Given the description of an element on the screen output the (x, y) to click on. 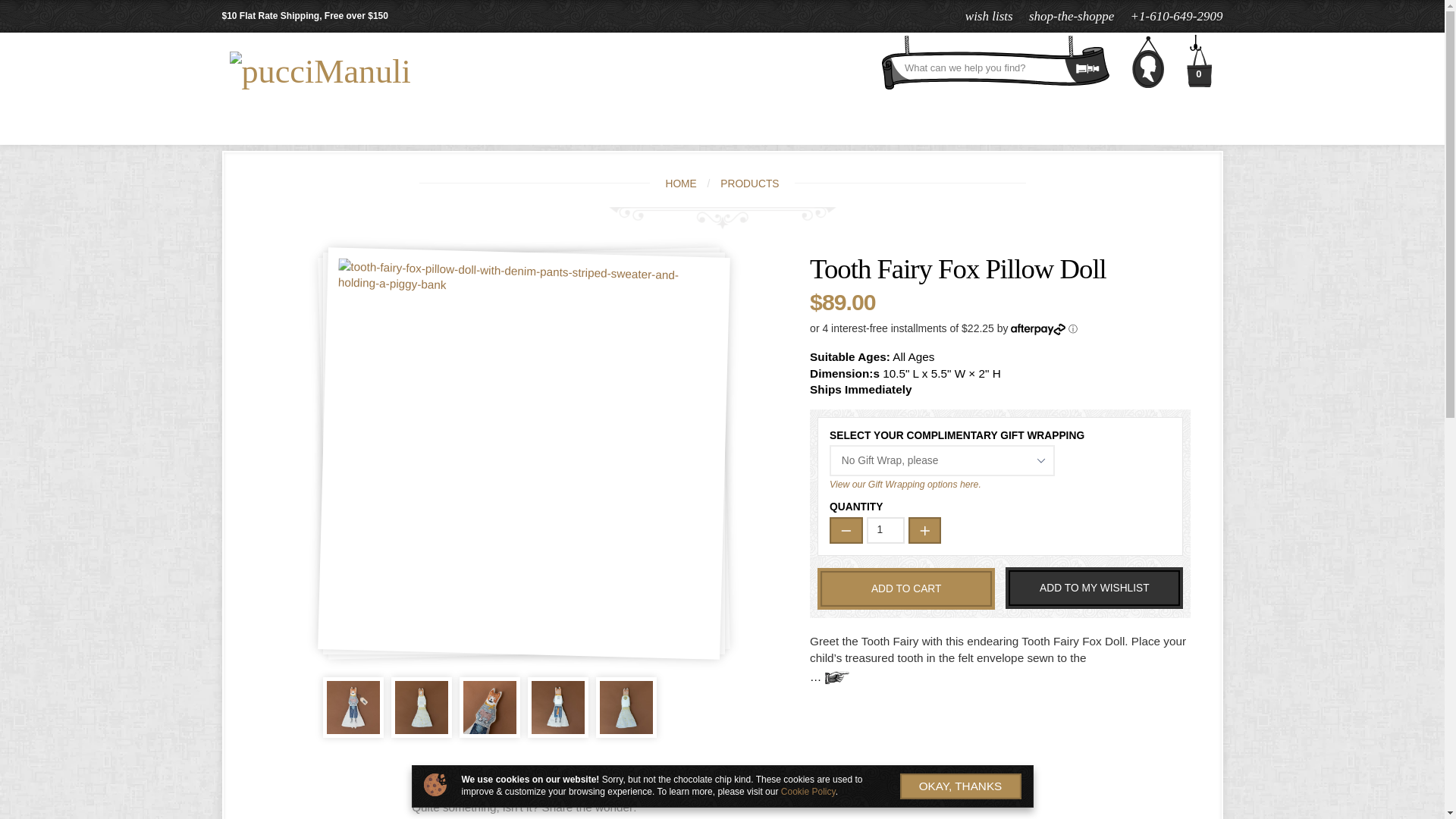
wish lists (989, 16)
Search (995, 65)
1 (885, 529)
shop-the-shoppe (1071, 16)
Add to My Wishlist (1094, 588)
